Given the description of an element on the screen output the (x, y) to click on. 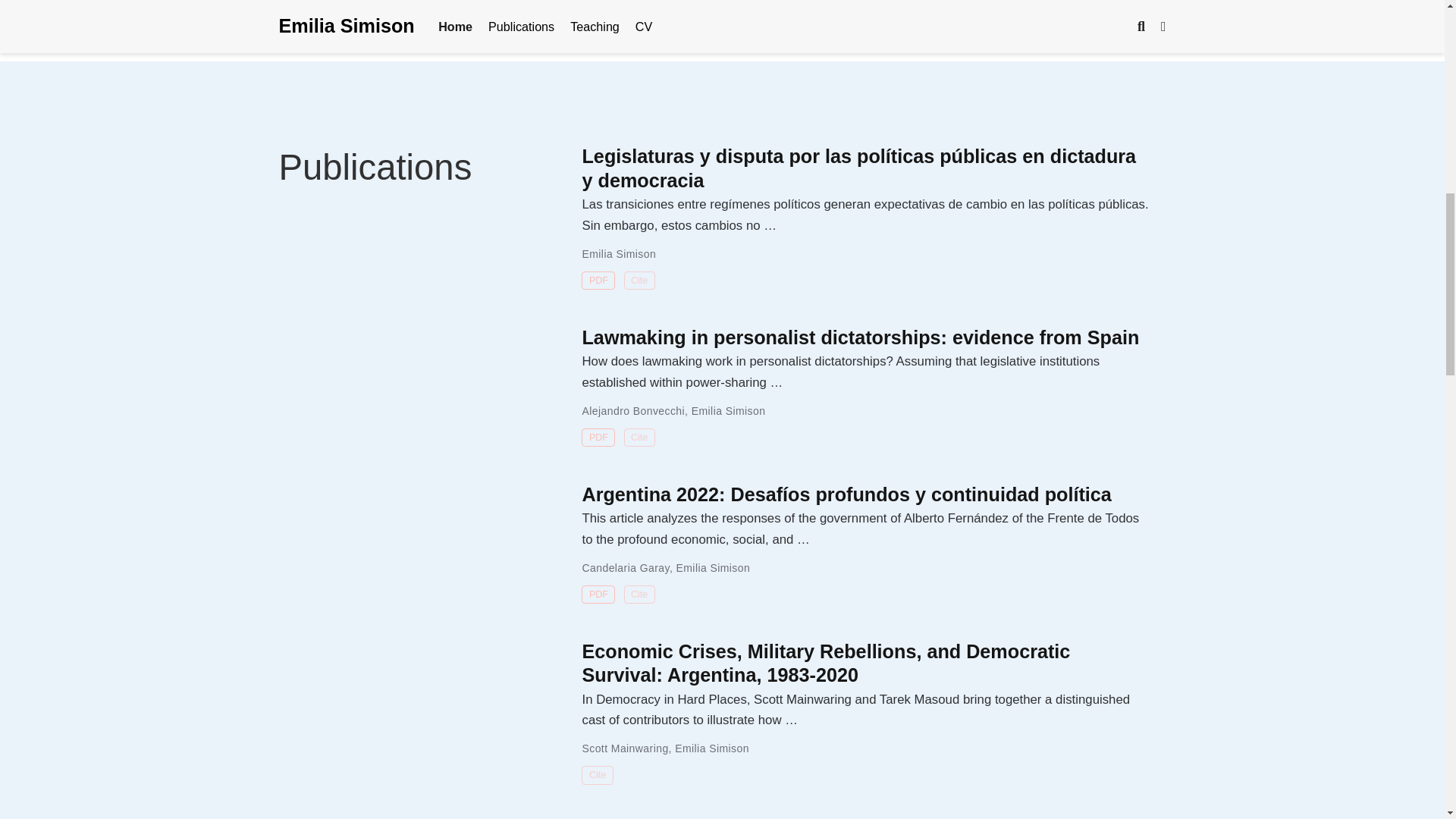
Cite (596, 774)
Emilia Simison (728, 410)
PDF (597, 437)
PDF (597, 594)
Cite (639, 594)
Emilia Simison (618, 254)
Emilia Simison (712, 748)
Candelaria Garay (624, 567)
Emilia Simison (714, 567)
Cite (639, 280)
Scott Mainwaring (624, 748)
Cite (639, 437)
Lawmaking in personalist dictatorships: evidence from Spain (859, 337)
Alejandro Bonvecchi (632, 410)
